Given the description of an element on the screen output the (x, y) to click on. 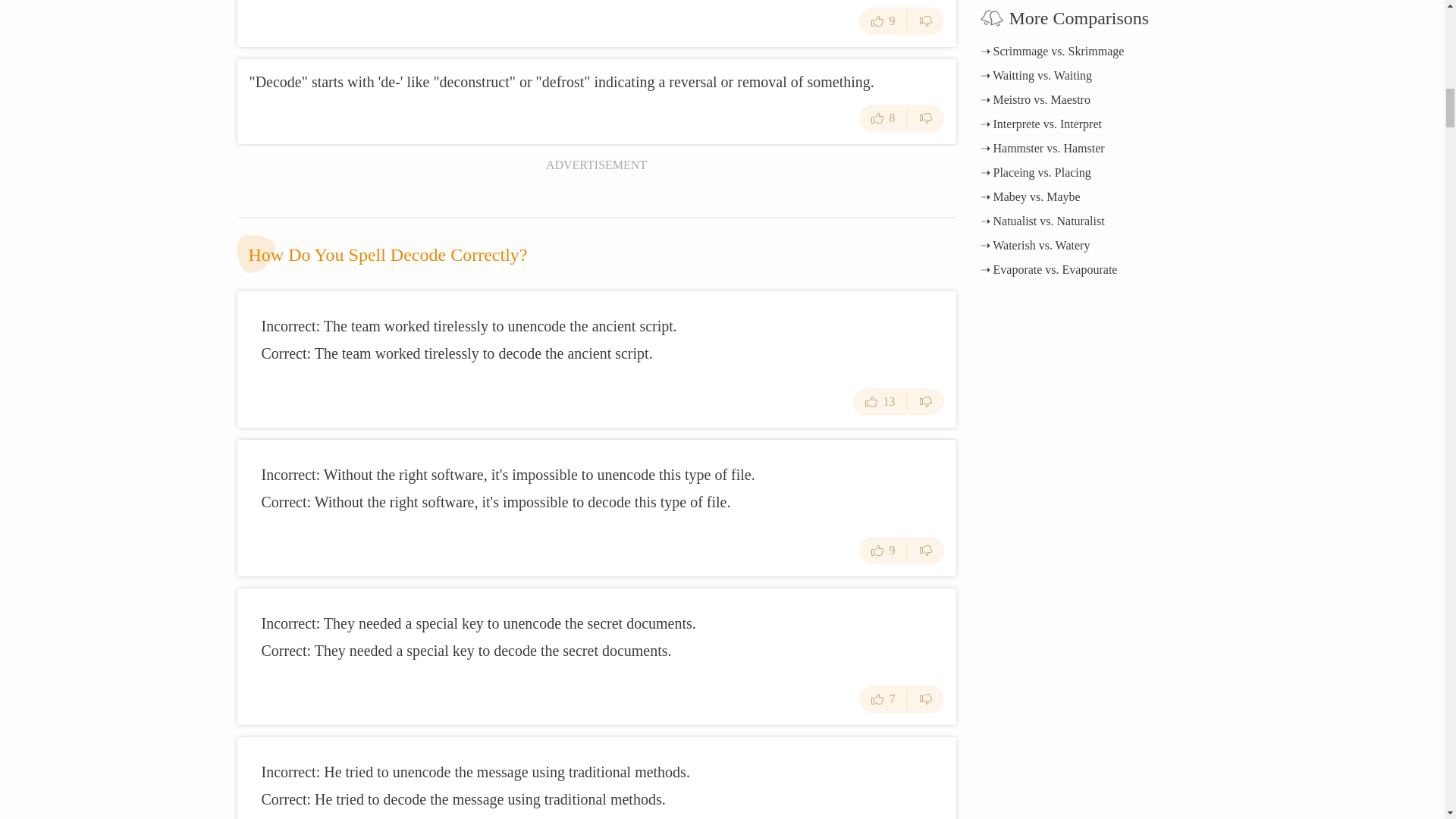
7 (883, 698)
8 (883, 117)
9 (883, 550)
13 (879, 401)
9 (883, 21)
